Given the description of an element on the screen output the (x, y) to click on. 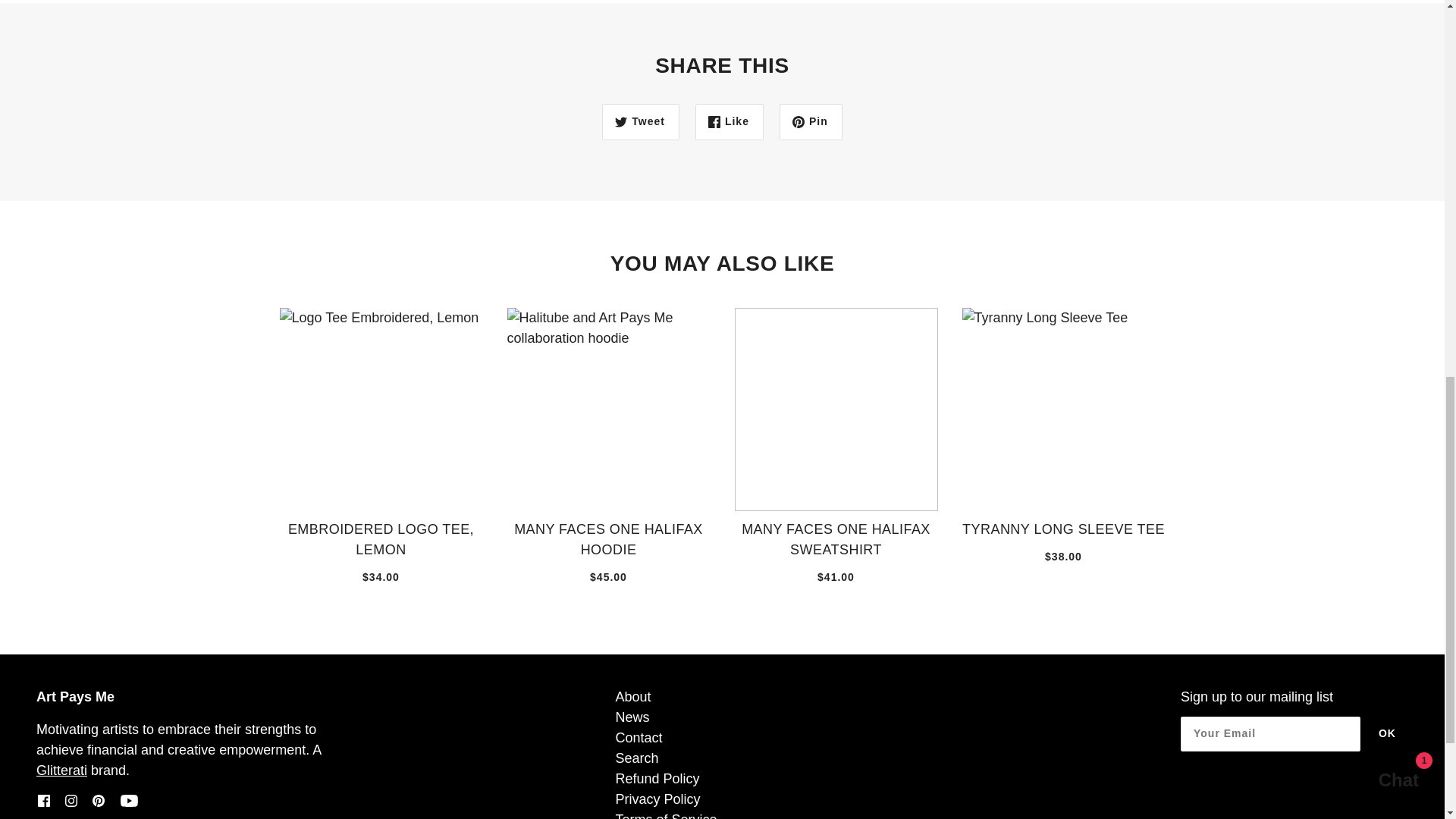
Refund Policy (656, 778)
Contact (638, 737)
Search (636, 758)
Terms of Service (665, 815)
Glitterati Communications website (61, 770)
News (631, 717)
About (632, 696)
Privacy Policy (657, 798)
